Given the description of an element on the screen output the (x, y) to click on. 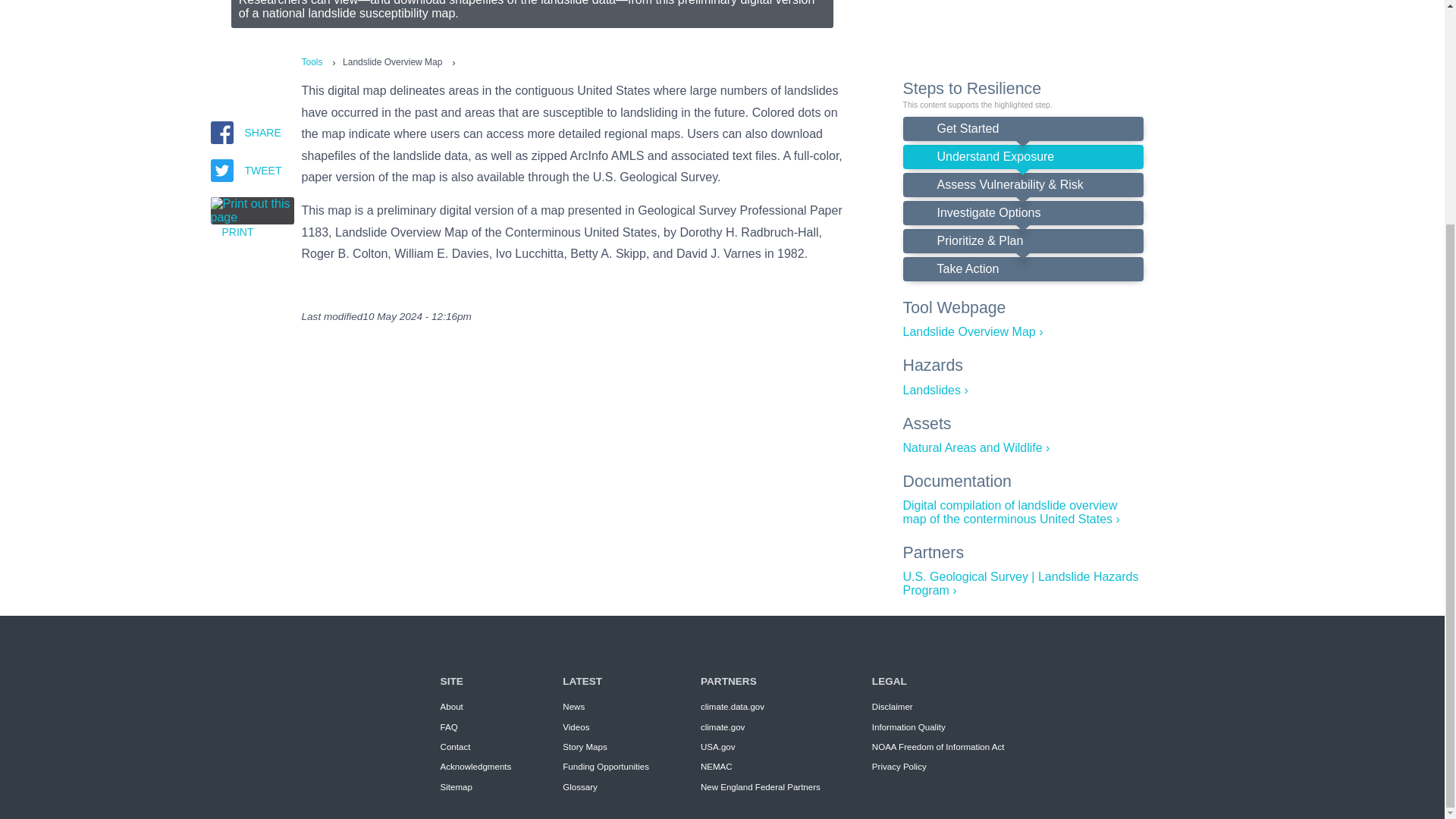
climate.data.gov (732, 706)
Tools (312, 61)
Share this page on Facebook (221, 110)
Natural Areas and Wildlife (975, 447)
SHARE (252, 110)
Funding Opportunities (605, 766)
Landslide Overview Map (972, 331)
Take Action (1022, 269)
About (452, 706)
